Given the description of an element on the screen output the (x, y) to click on. 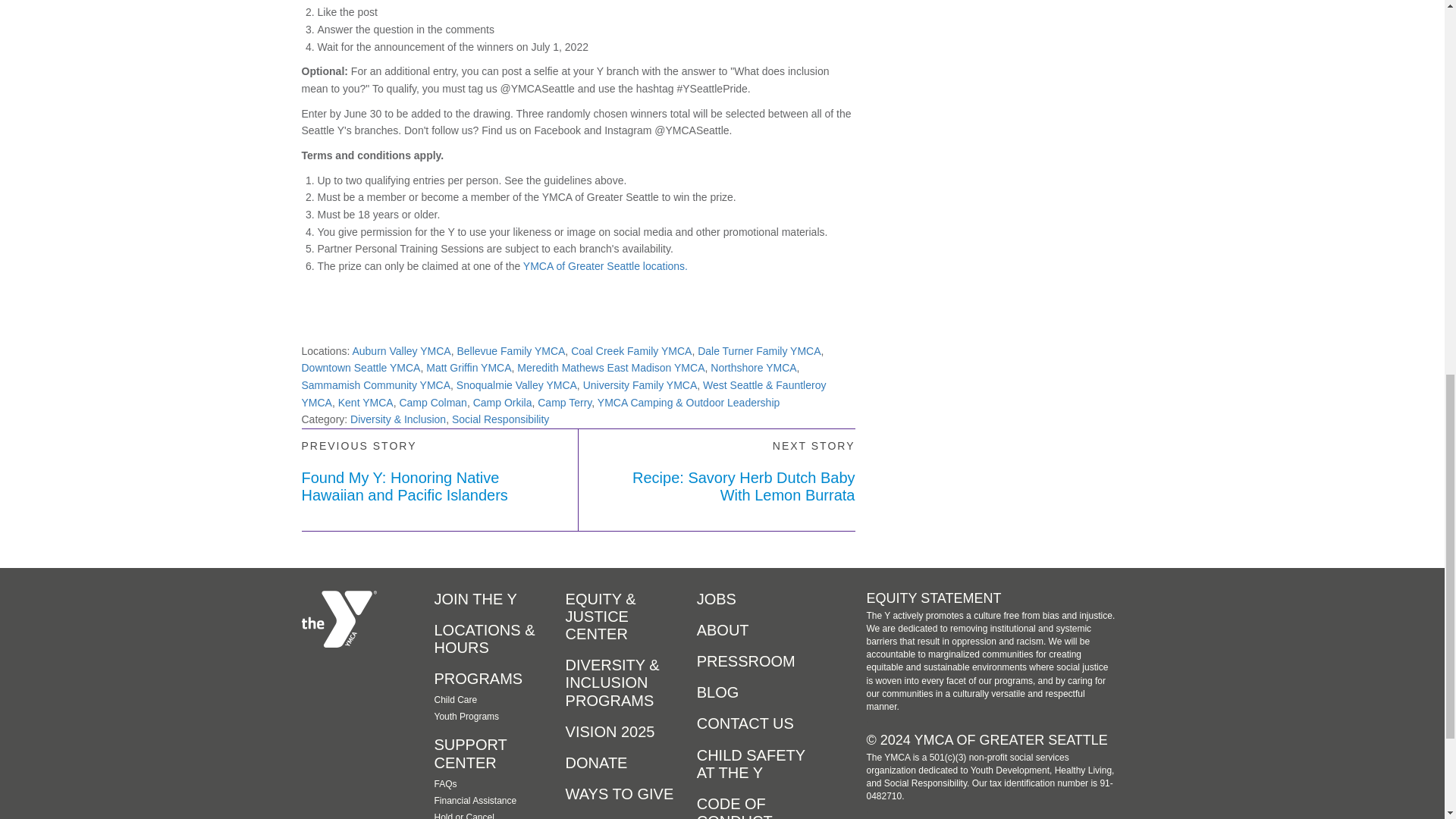
YMCA (339, 618)
